Given the description of an element on the screen output the (x, y) to click on. 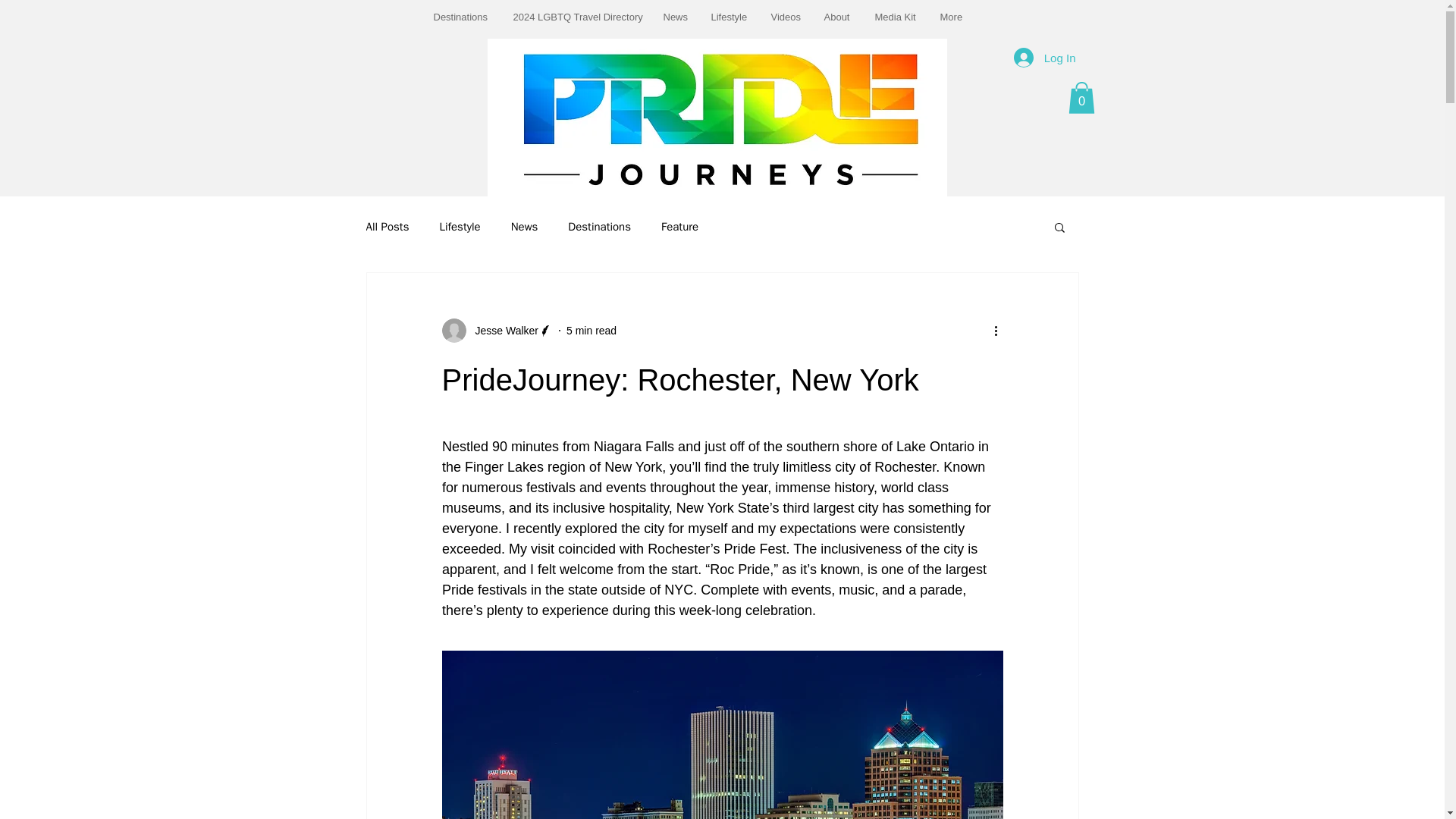
Log In (1044, 57)
Feature (679, 227)
About (837, 17)
Lifestyle (459, 227)
Jesse Walker (501, 330)
All Posts (387, 227)
Media Kit (895, 17)
News (676, 17)
Jesse Walker (497, 330)
Lifestyle (728, 17)
